Given the description of an element on the screen output the (x, y) to click on. 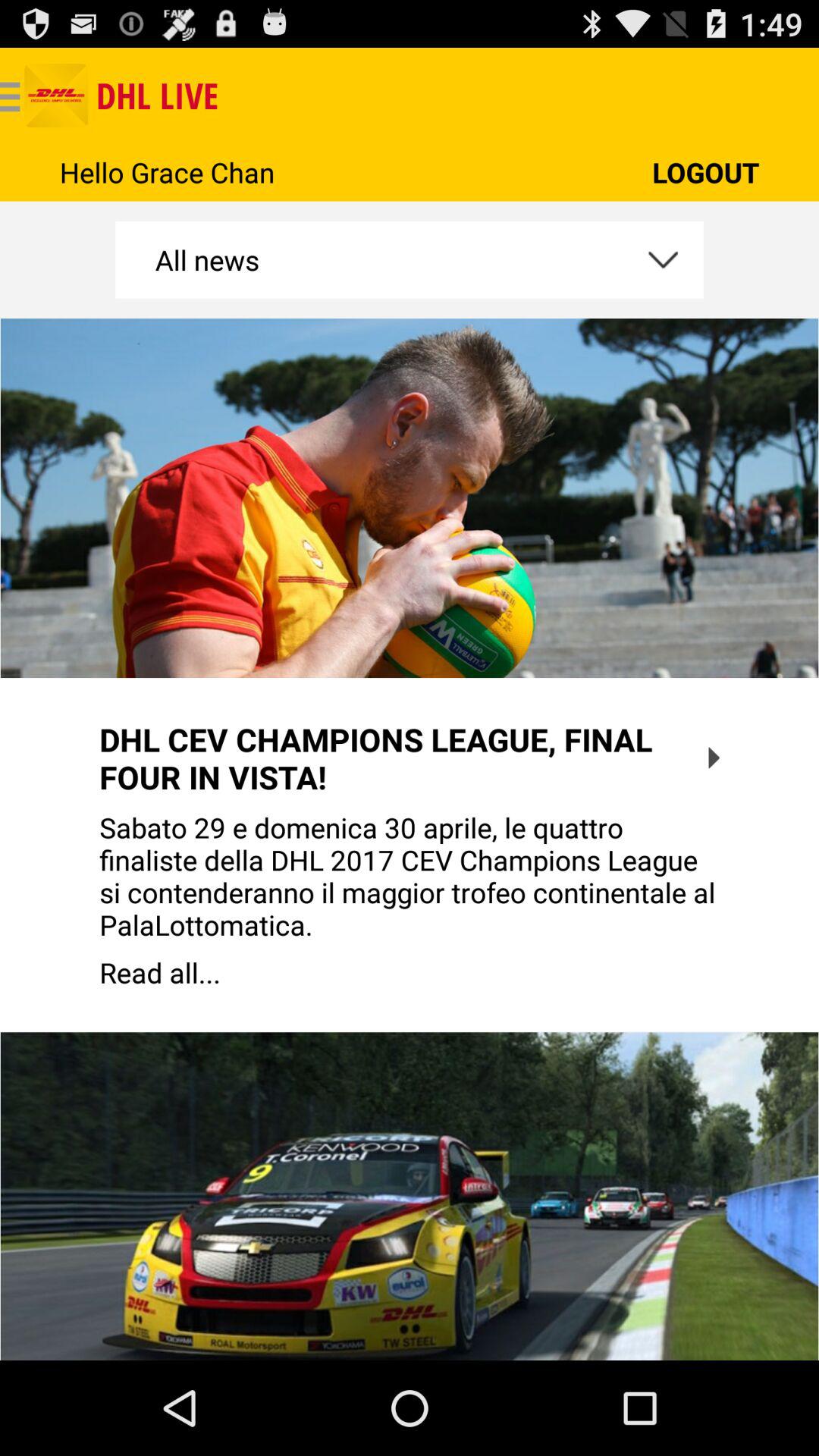
click app below dhl cev champions app (409, 875)
